Given the description of an element on the screen output the (x, y) to click on. 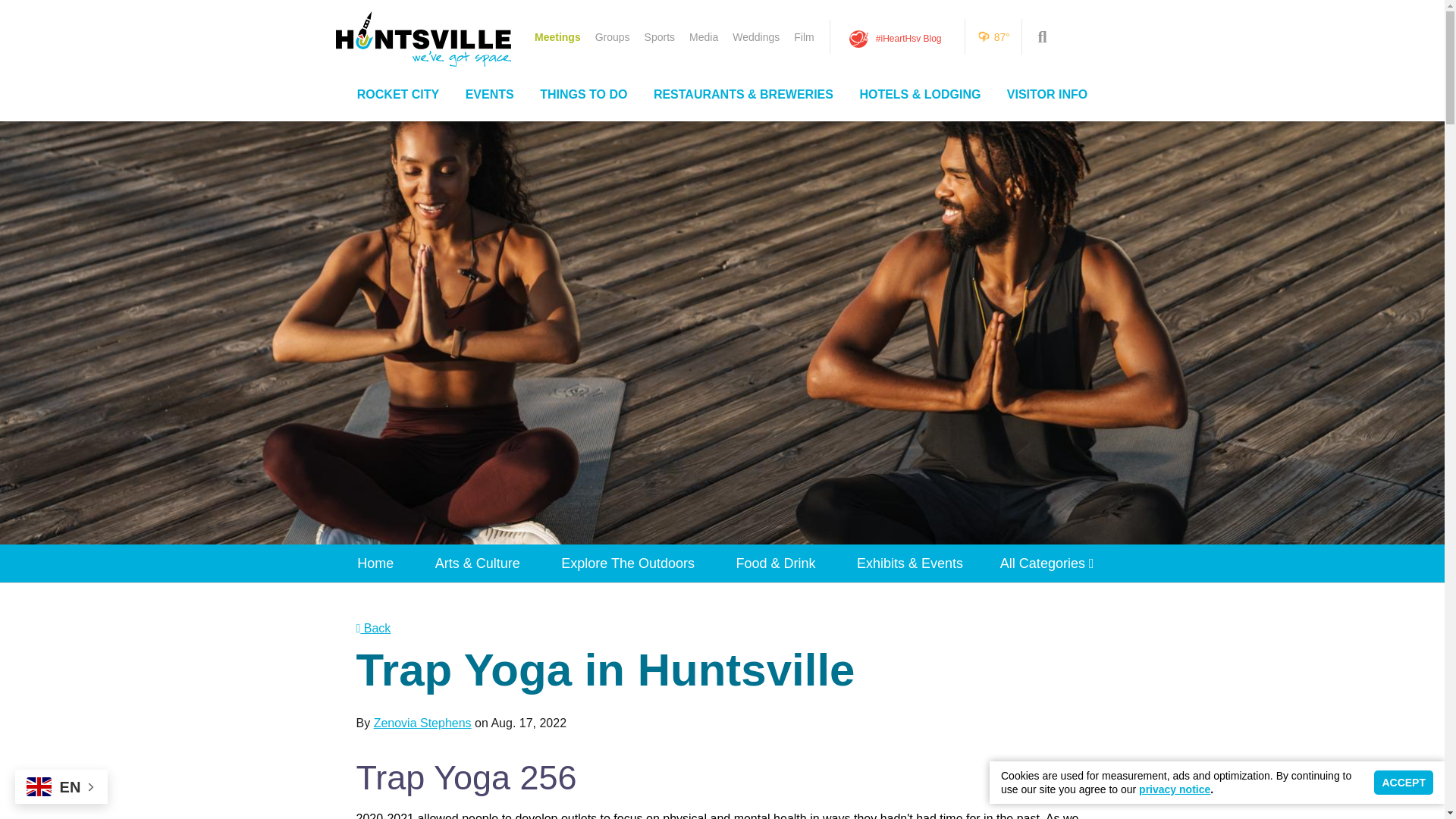
Sports (660, 36)
Groups (612, 36)
Media (702, 36)
Groups (612, 36)
Weddings (755, 36)
Meetings (557, 36)
Sports (660, 36)
